Given the description of an element on the screen output the (x, y) to click on. 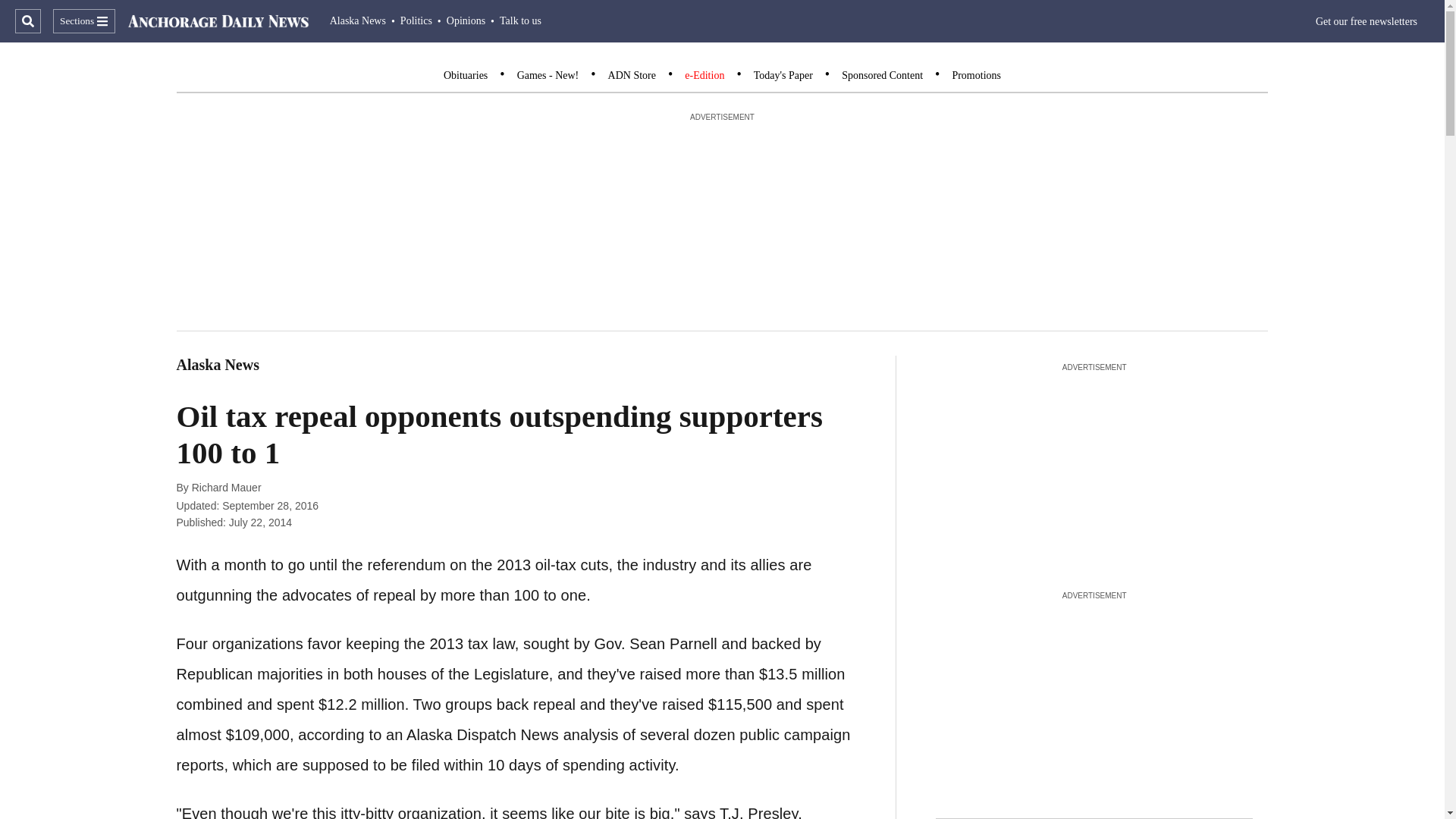
Politics (416, 20)
ADN Logo (218, 20)
Get our free newsletters (1366, 21)
Opinions (465, 20)
Sections (83, 21)
Alaska News (357, 20)
